Given the description of an element on the screen output the (x, y) to click on. 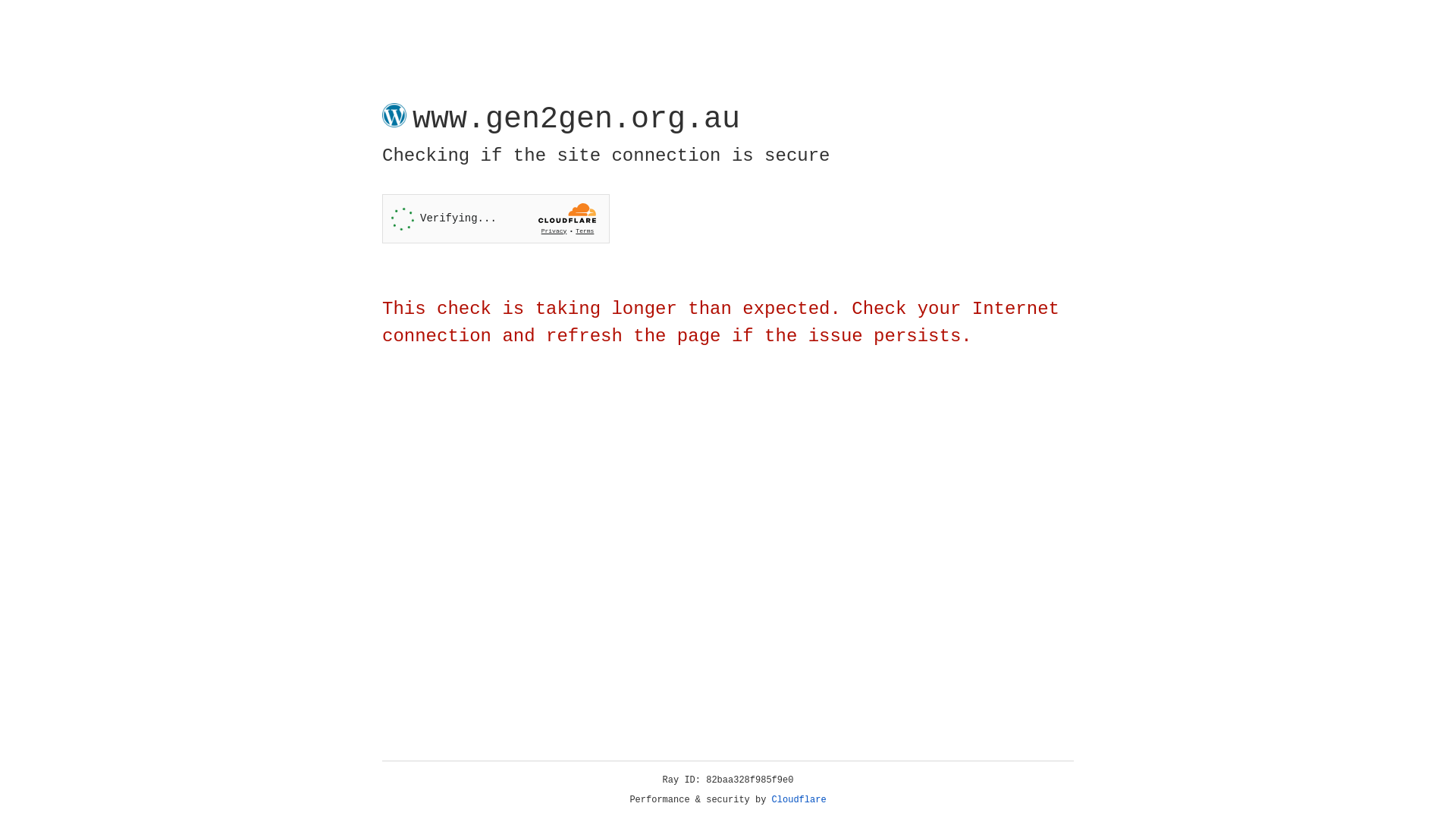
Widget containing a Cloudflare security challenge Element type: hover (495, 218)
Cloudflare Element type: text (798, 799)
